Given the description of an element on the screen output the (x, y) to click on. 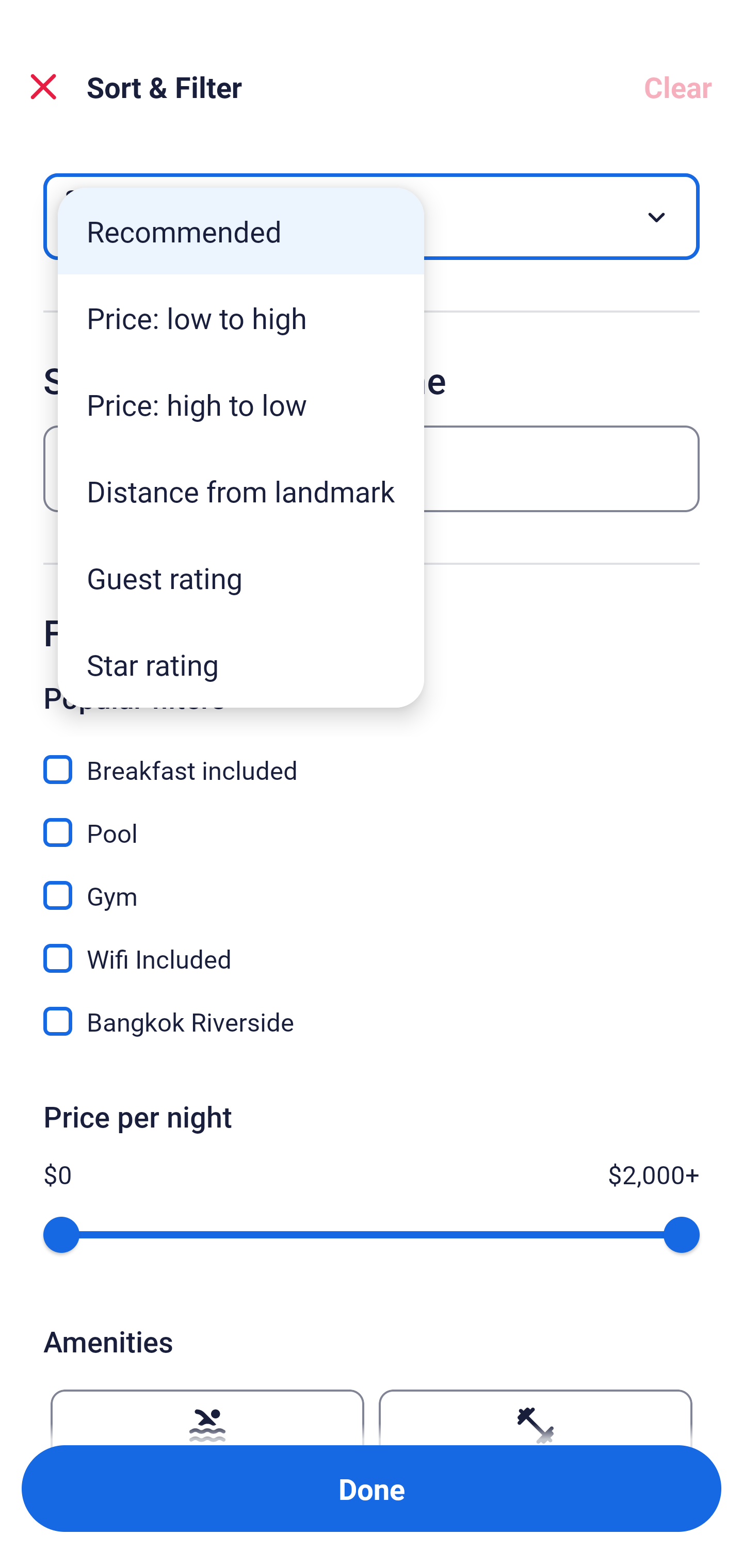
Price: low to high (240, 317)
Price: high to low (240, 404)
Distance from landmark (240, 491)
Guest rating (240, 577)
Star rating (240, 663)
